Given the description of an element on the screen output the (x, y) to click on. 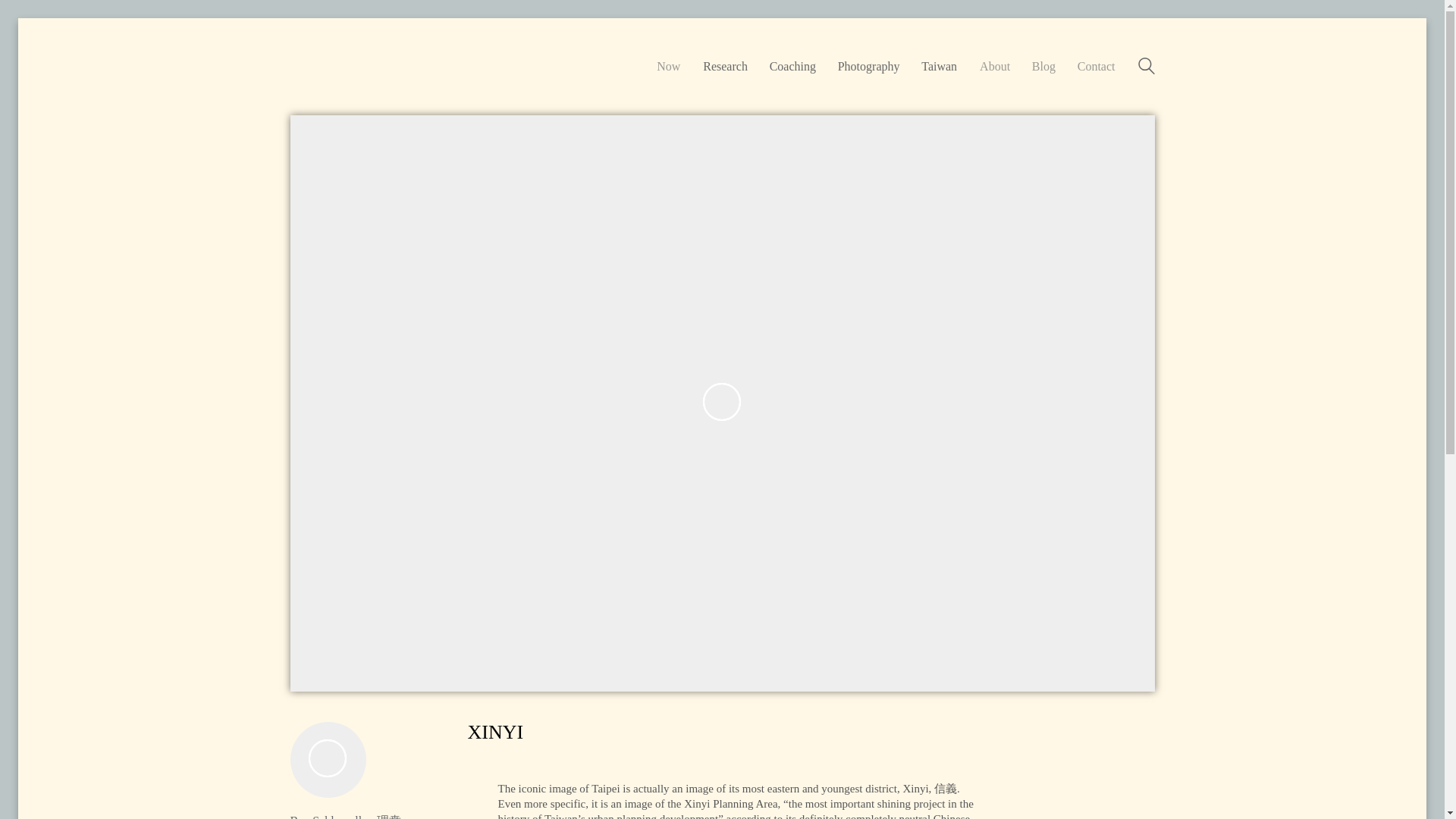
Coaching (792, 66)
Contact (1096, 66)
Photography (868, 66)
Blog (1043, 66)
Now (667, 66)
Taiwan (938, 66)
Research (725, 66)
About (994, 66)
